Given the description of an element on the screen output the (x, y) to click on. 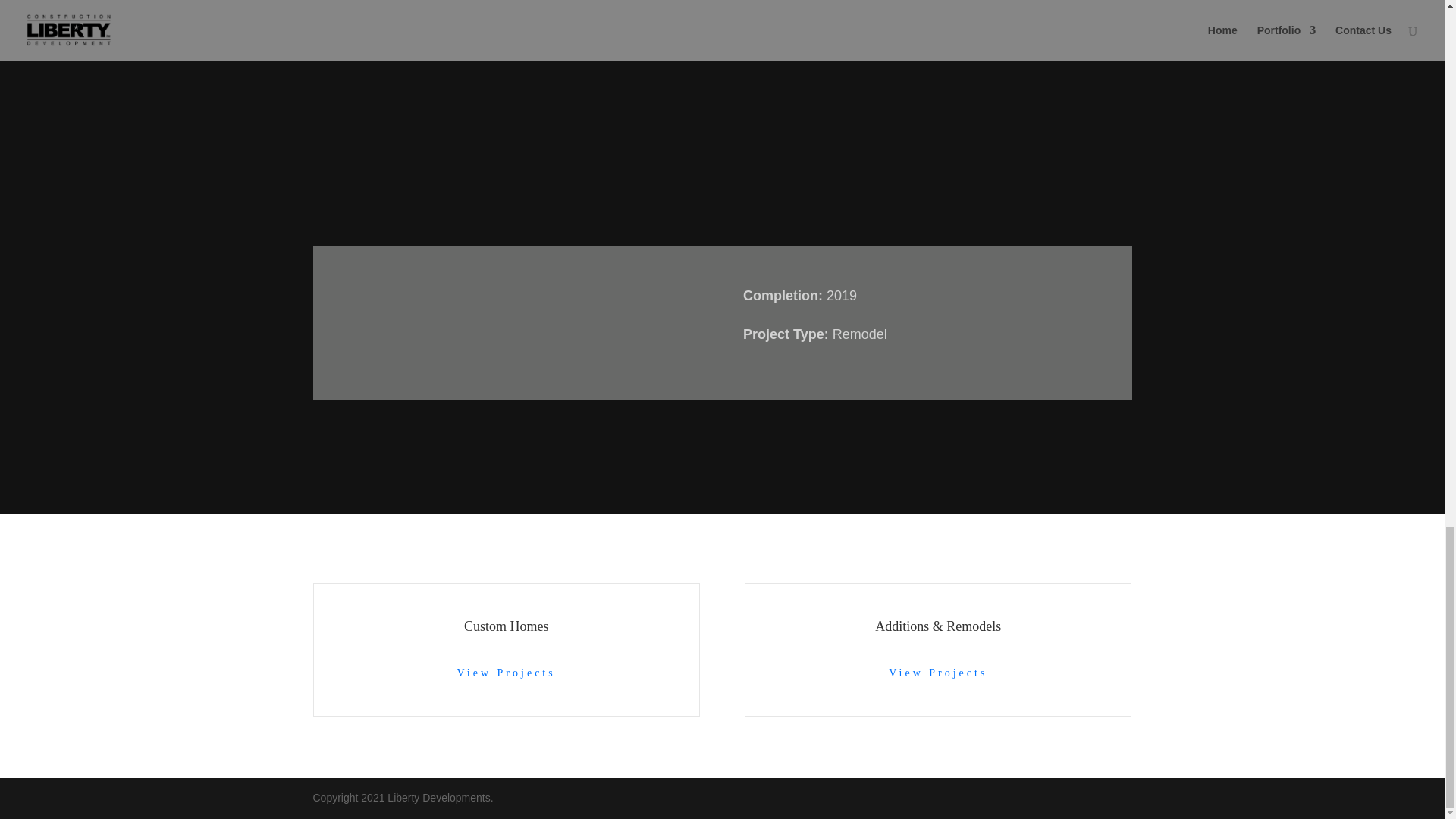
View Projects (506, 672)
View Projects (937, 672)
